Given the description of an element on the screen output the (x, y) to click on. 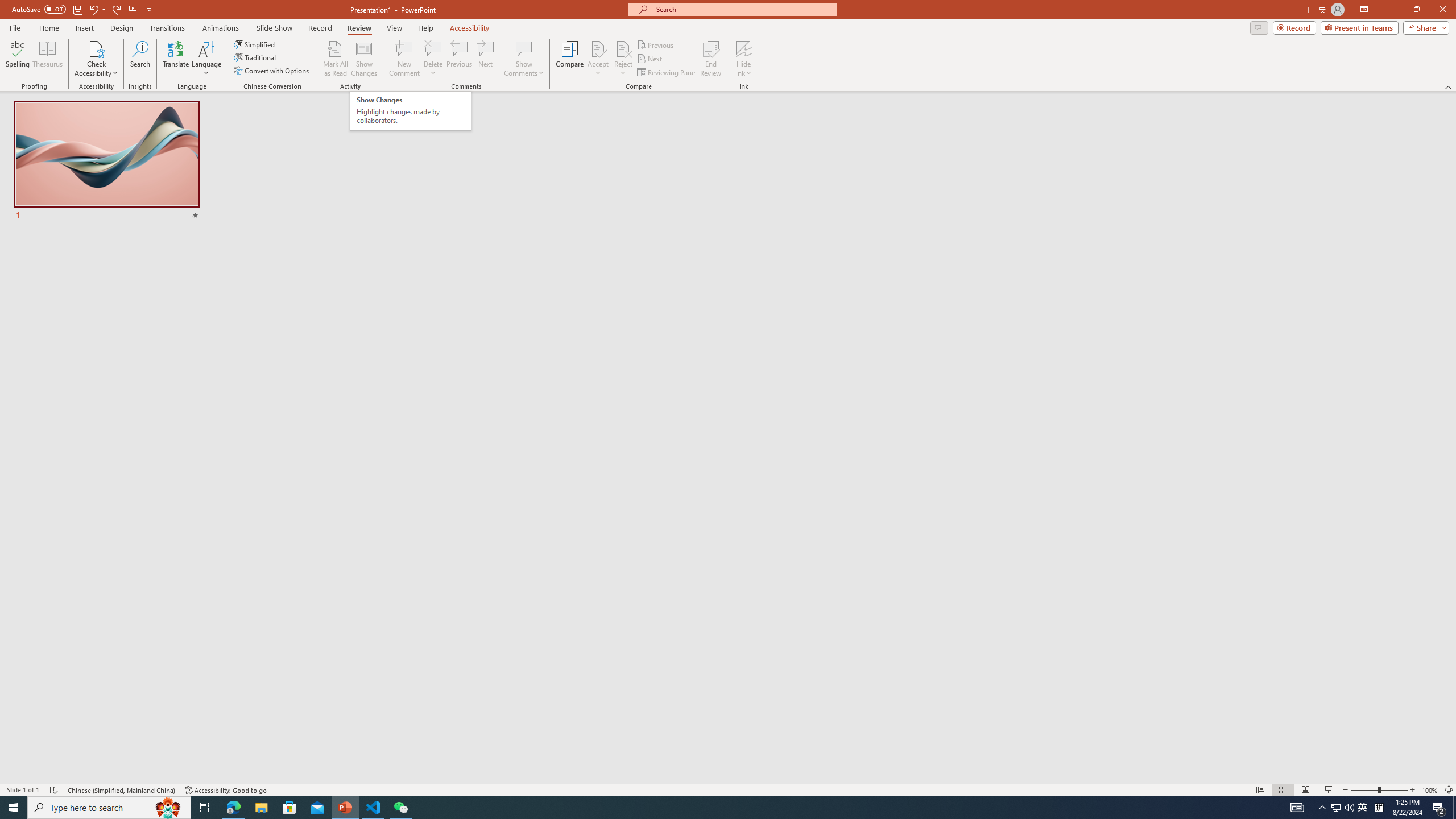
Traditional (255, 56)
